Given the description of an element on the screen output the (x, y) to click on. 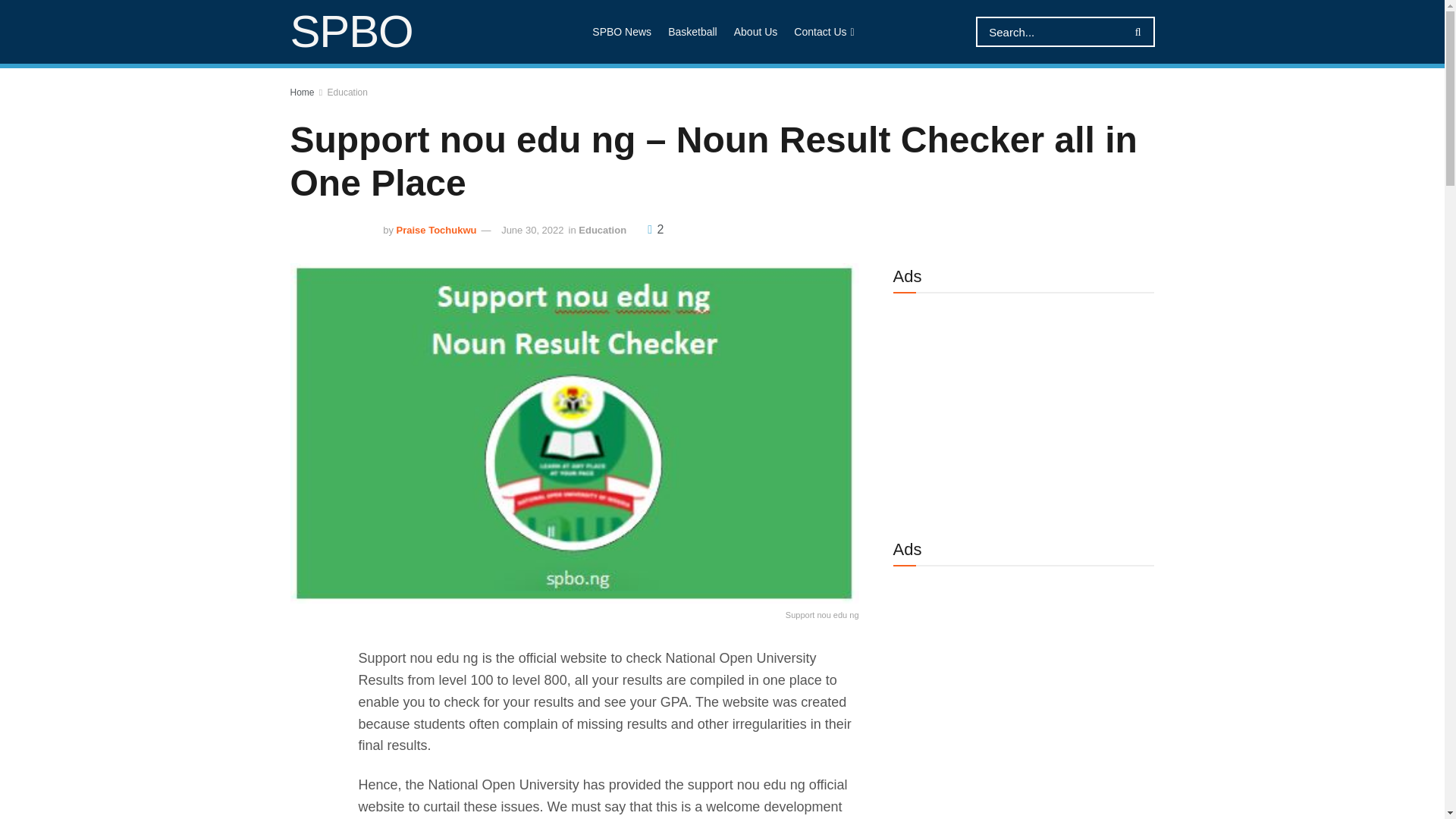
2 (655, 228)
SPBO (350, 31)
Basketball (692, 31)
June 30, 2022 (531, 229)
SPBO News (621, 31)
Praise Tochukwu (436, 229)
Education (602, 229)
Contact Us (822, 31)
